Given the description of an element on the screen output the (x, y) to click on. 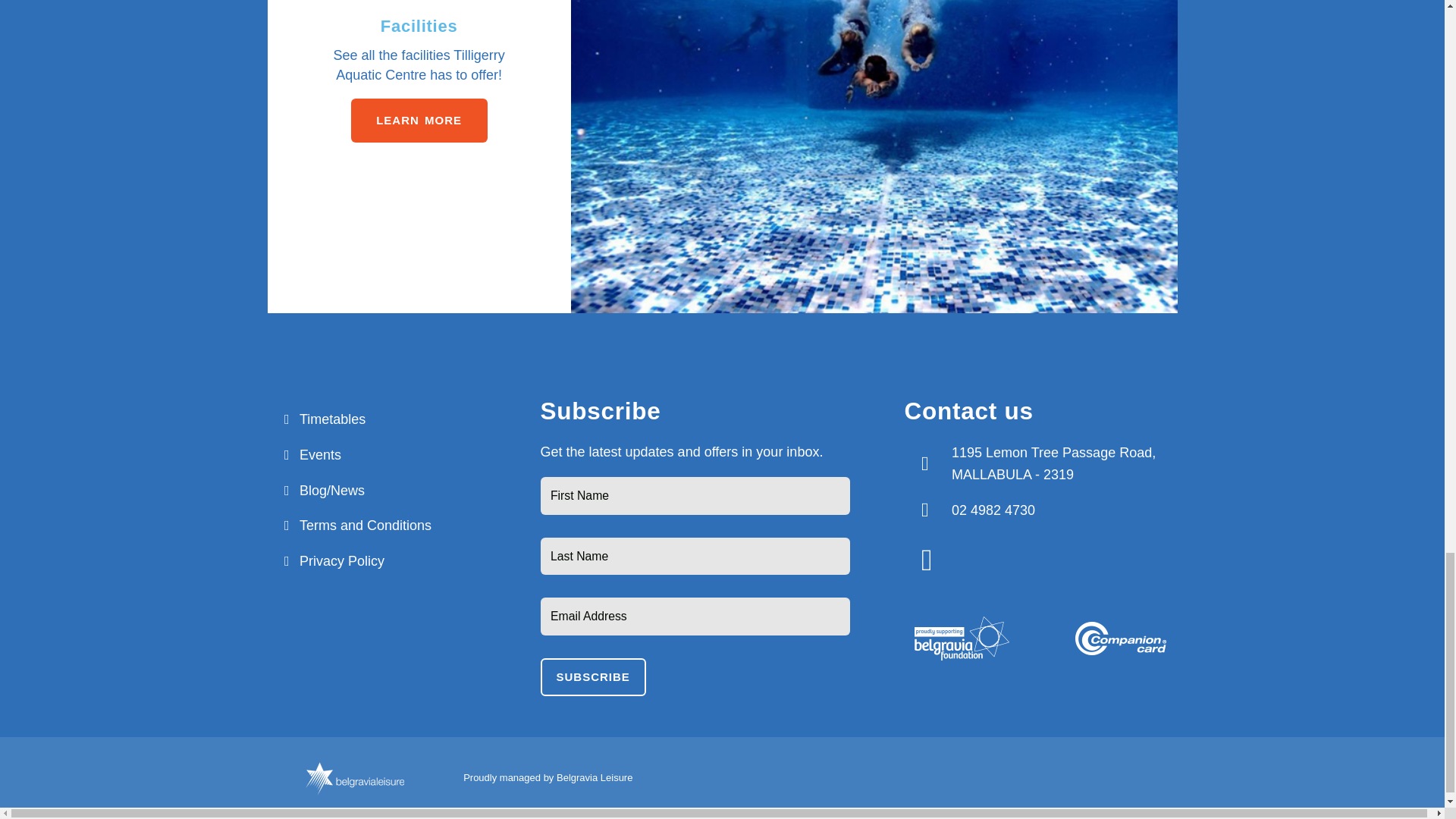
subscribe (592, 677)
